Given the description of an element on the screen output the (x, y) to click on. 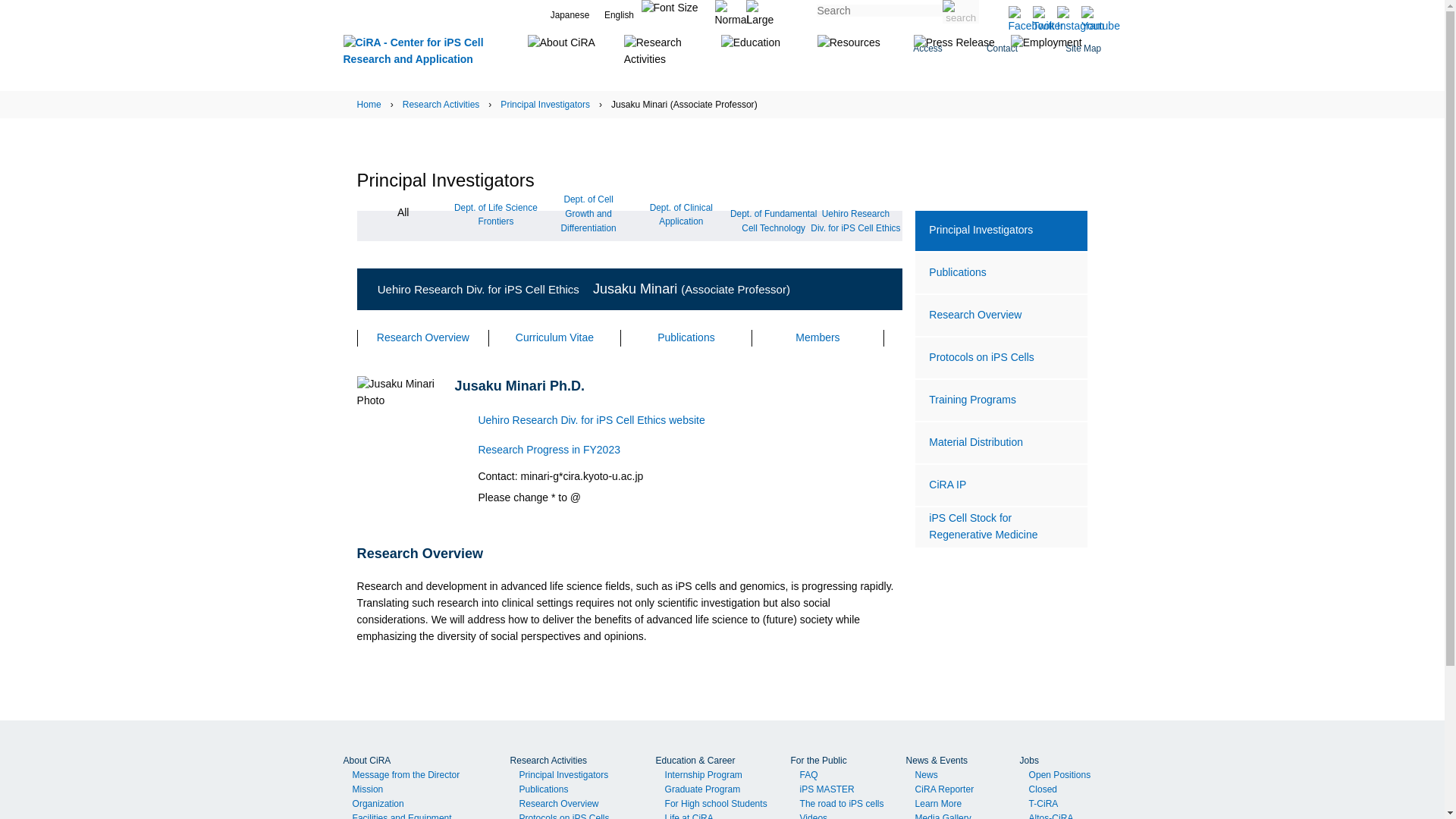
Site Map (1069, 53)
English (619, 8)
Japanese (569, 8)
Contact (1001, 53)
Access (926, 53)
